Given the description of an element on the screen output the (x, y) to click on. 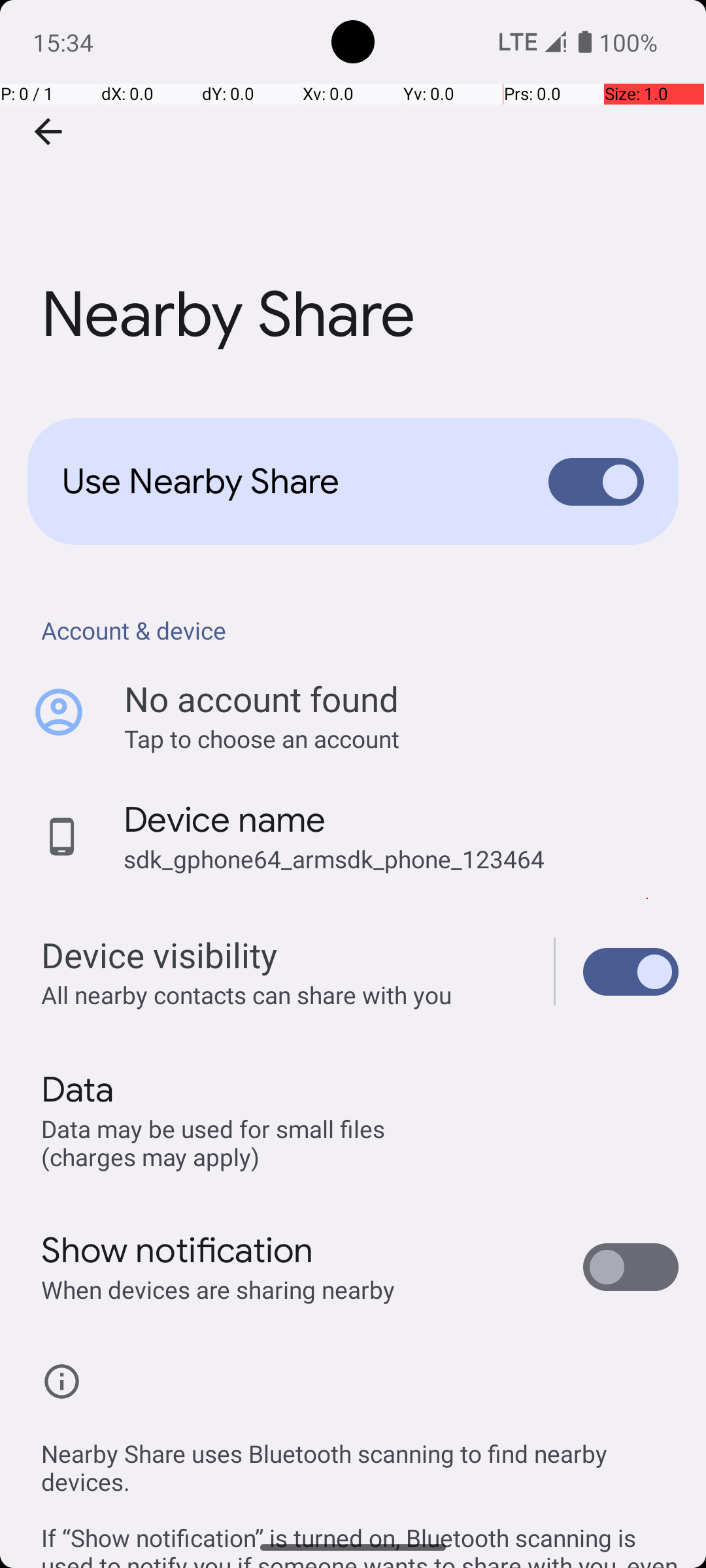
Nearby Share Element type: android.widget.FrameLayout (353, 195)
Use Nearby Share Element type: android.widget.TextView (284, 481)
Account & device Element type: android.widget.TextView (359, 629)
No account found Element type: android.widget.TextView (261, 698)
Tap to choose an account Element type: android.widget.TextView (401, 738)
Device name Element type: android.widget.TextView (224, 819)
sdk_gphone64_armsdk_phone_123464 Element type: android.widget.TextView (333, 858)
Device visibility Element type: android.widget.Switch (630, 971)
Data Element type: android.widget.TextView (77, 1089)
Data may be used for small files 
(charges may apply) Element type: android.widget.TextView (215, 1142)
Show notification Element type: android.widget.TextView (177, 1250)
When devices are sharing nearby Element type: android.widget.TextView (218, 1289)
Nearby Share uses Bluetooth scanning to find nearby devices. 

If “Show notification” is turned on, Bluetooth scanning is used to notify you if someone wants to share with you, even when Nearby Share is turned off. Element type: android.widget.TextView (359, 1488)
All nearby contacts can share with you Element type: android.widget.TextView (283, 994)
